Given the description of an element on the screen output the (x, y) to click on. 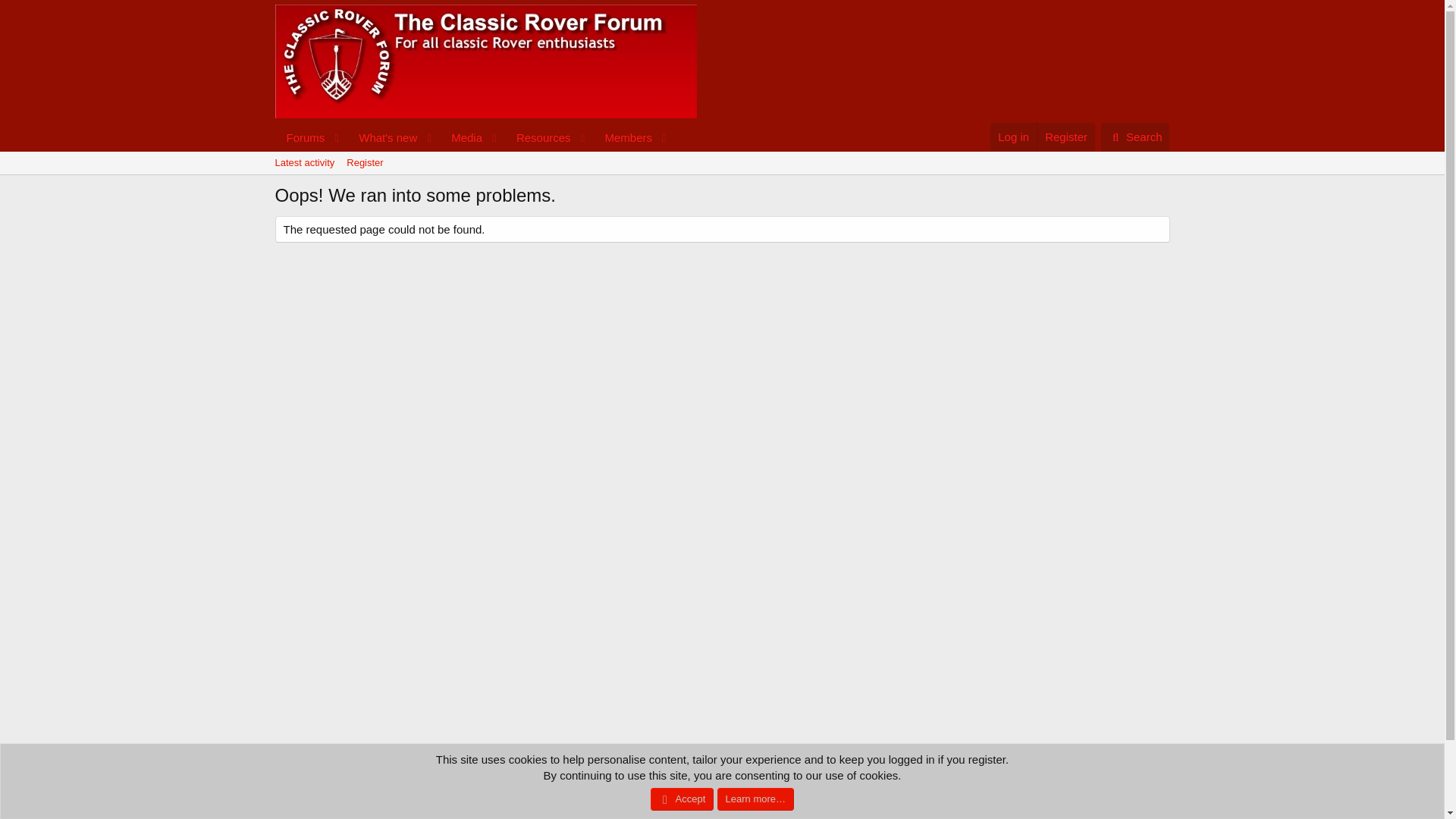
RSS (473, 137)
Search (1161, 776)
Latest activity (1135, 136)
Search (303, 162)
What's new (1135, 136)
Log in (383, 137)
Forums (1013, 136)
Members (720, 162)
